Given the description of an element on the screen output the (x, y) to click on. 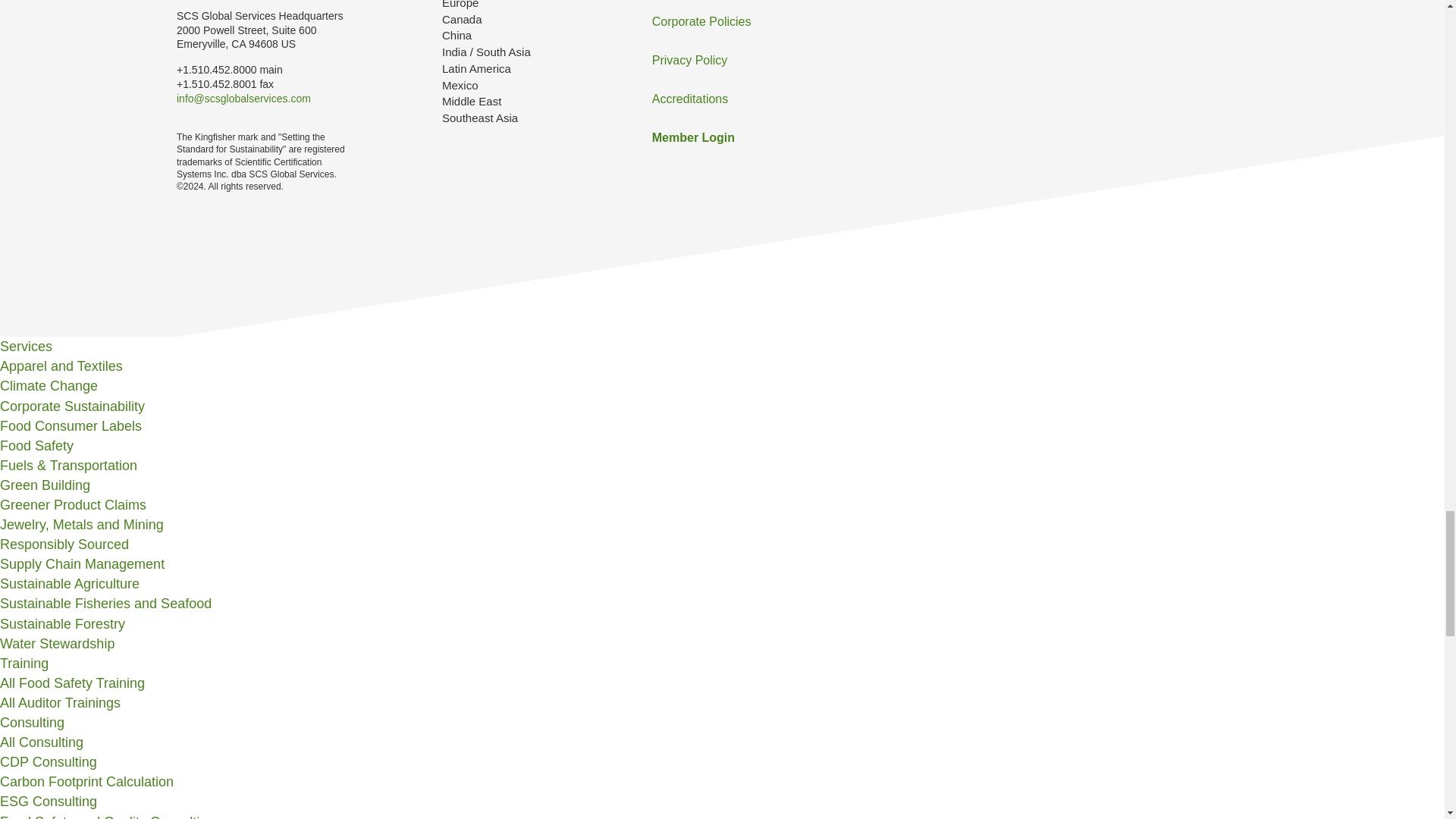
SCS Global Services on Facebook (1096, 31)
SCS Global Services' YouTube Account (1184, 31)
SCS Global Services on Twitter (1053, 31)
SCS Global Services on LinkedIn (1140, 31)
SCS Global Services' Instagram Account (1008, 31)
